Given the description of an element on the screen output the (x, y) to click on. 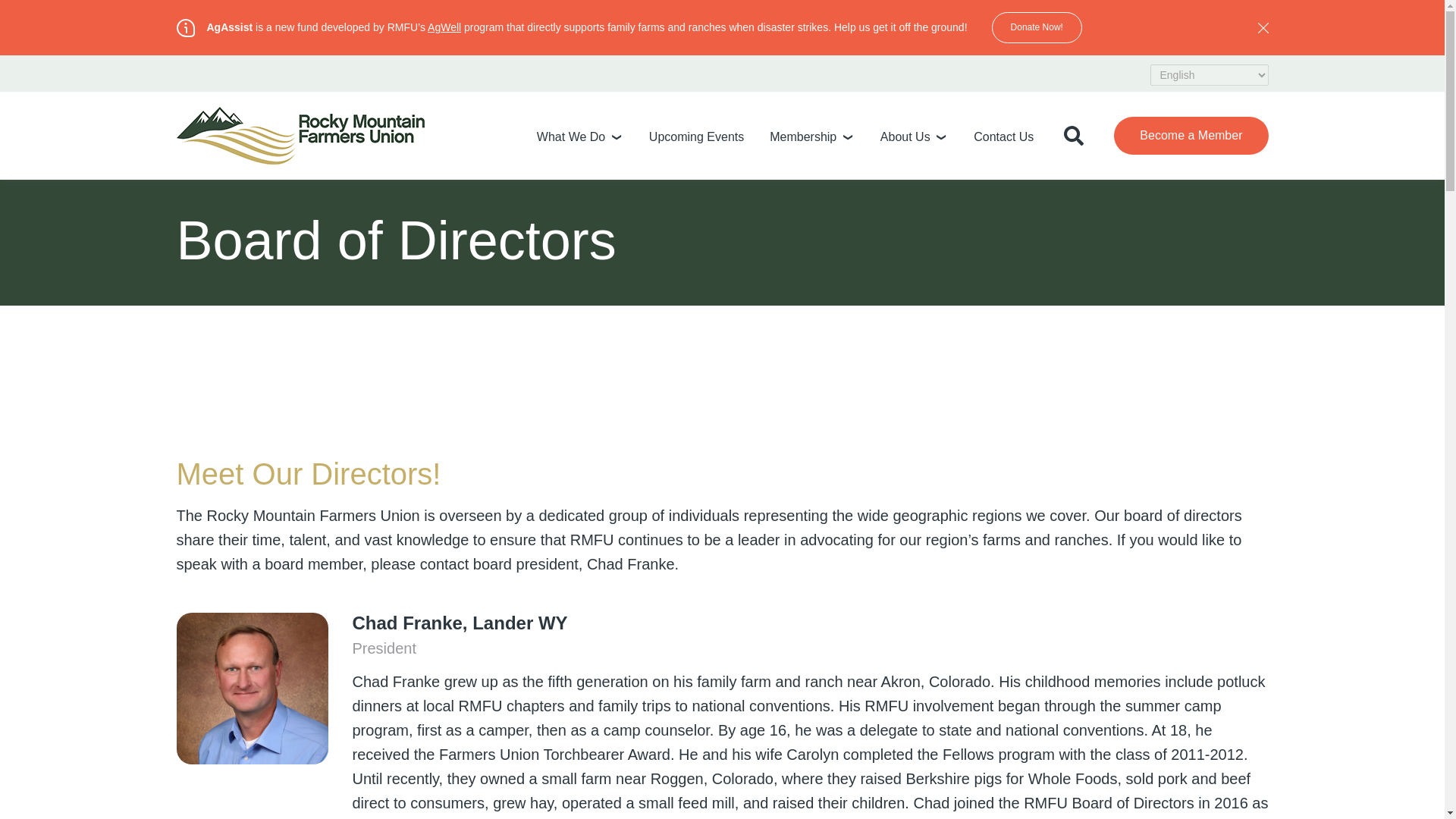
Donate Now! (1036, 27)
Membership (802, 136)
AgWell (444, 27)
Become a Member (1190, 135)
What We Do (571, 136)
Contact Us (1003, 136)
About Us (905, 136)
Search (1227, 199)
Upcoming Events (696, 136)
